Given the description of an element on the screen output the (x, y) to click on. 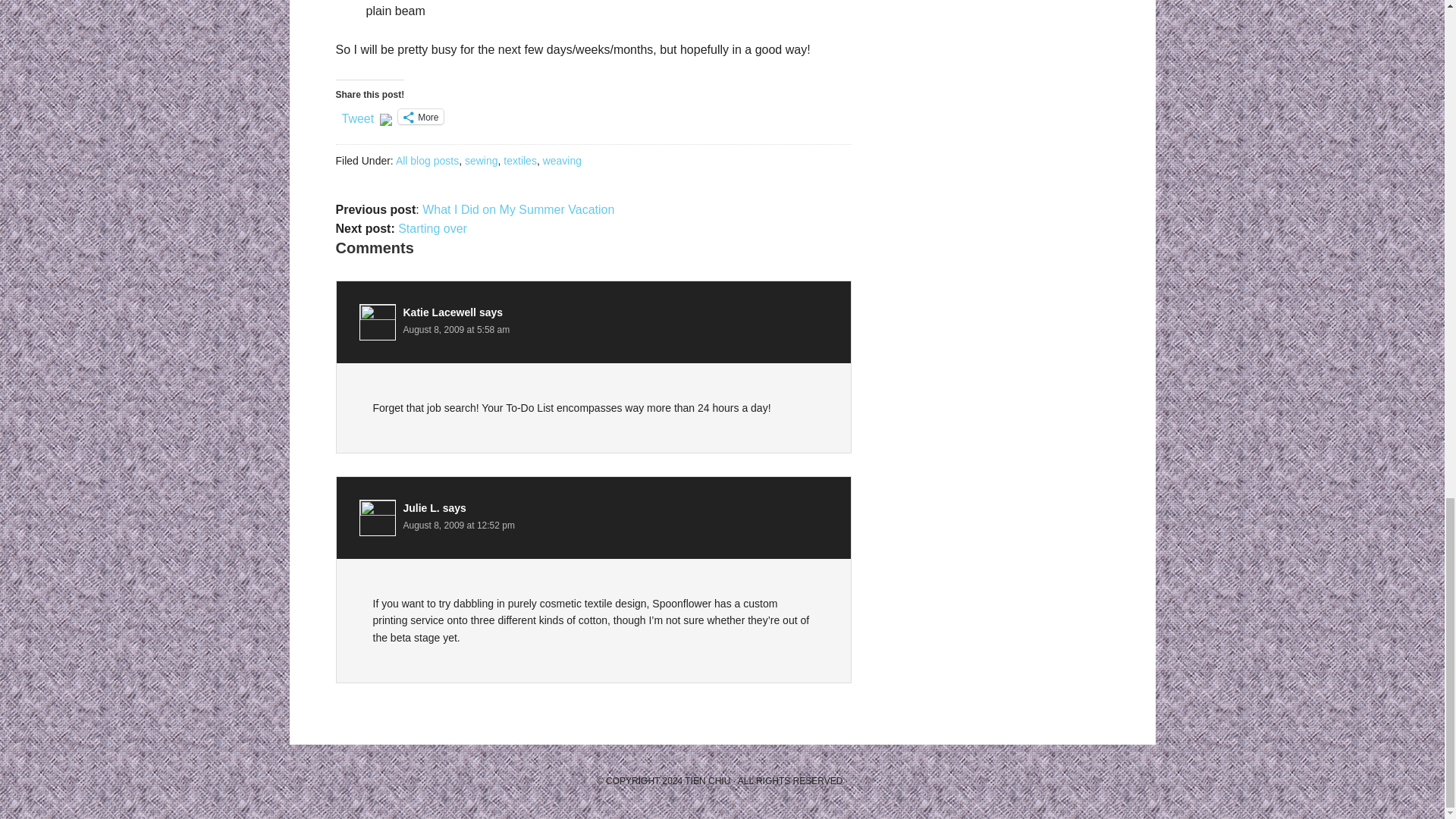
More (419, 116)
August 8, 2009 at 12:52 pm (459, 525)
Starting over (432, 228)
TIEN CHIU (707, 780)
textiles (520, 160)
What I Did on My Summer Vacation (518, 209)
August 8, 2009 at 5:58 am (457, 329)
All blog posts (427, 160)
weaving (561, 160)
Tweet (357, 115)
